Given the description of an element on the screen output the (x, y) to click on. 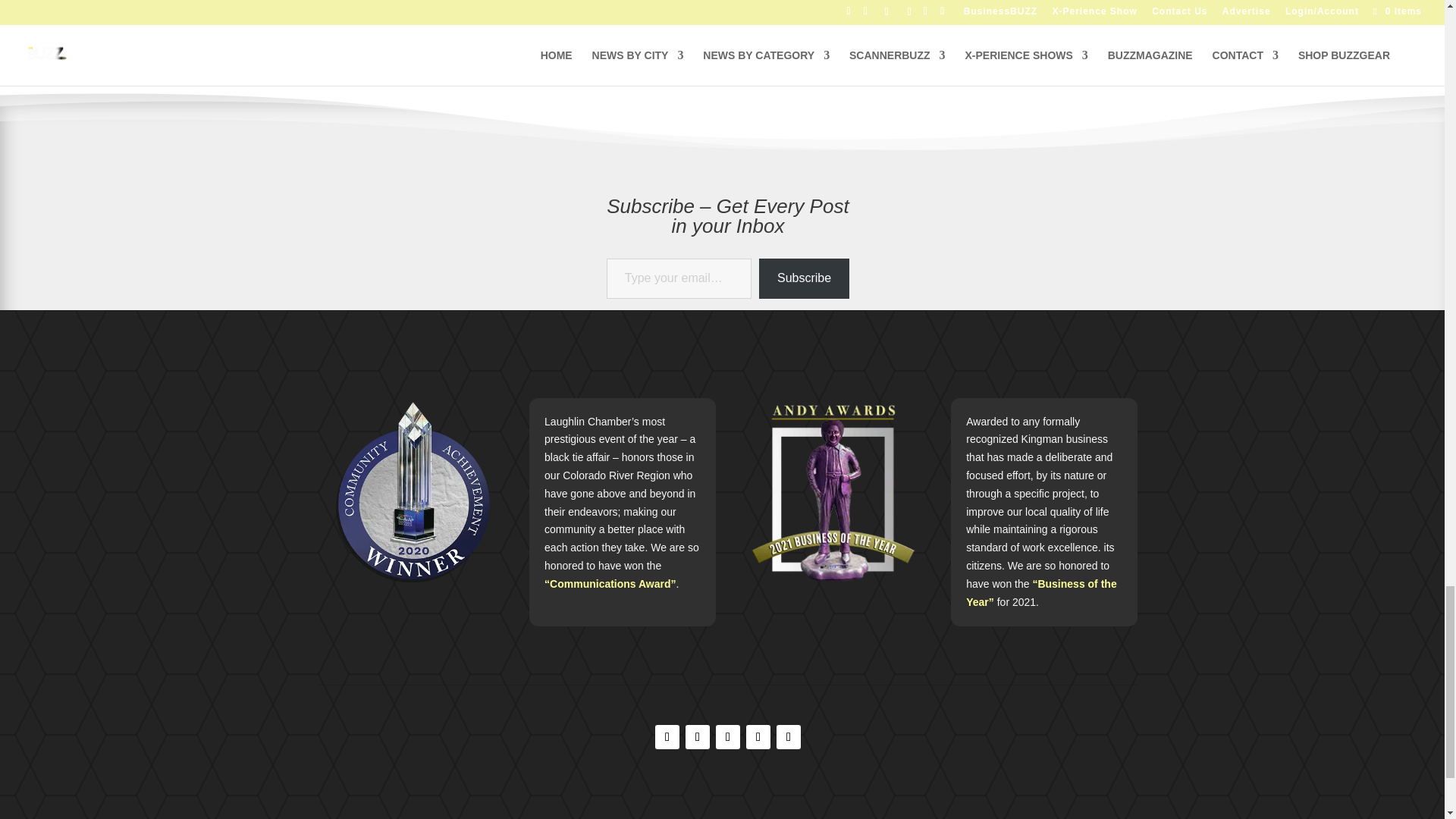
2021 Andy Awards - Business of the Year 2 copy (832, 492)
Follow on Instagram (697, 736)
Follow on Facebook (667, 736)
Follow on Youtube (788, 736)
Communtiy acheivement Award 400x (411, 491)
Follow on TikTok (727, 736)
Follow on X (757, 736)
Please fill in this field. (679, 278)
